Given the description of an element on the screen output the (x, y) to click on. 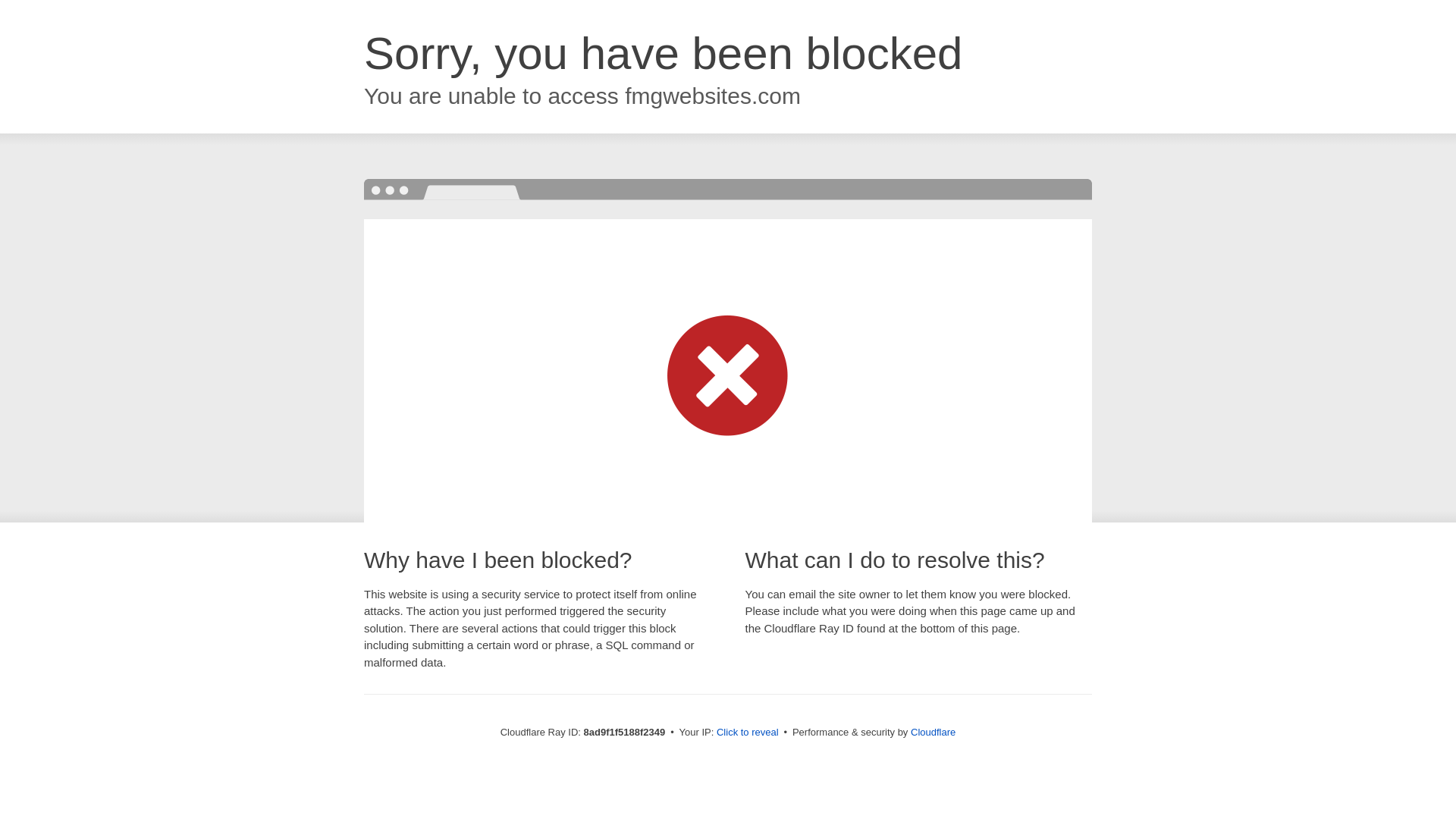
Click to reveal (747, 732)
Cloudflare (933, 731)
